Given the description of an element on the screen output the (x, y) to click on. 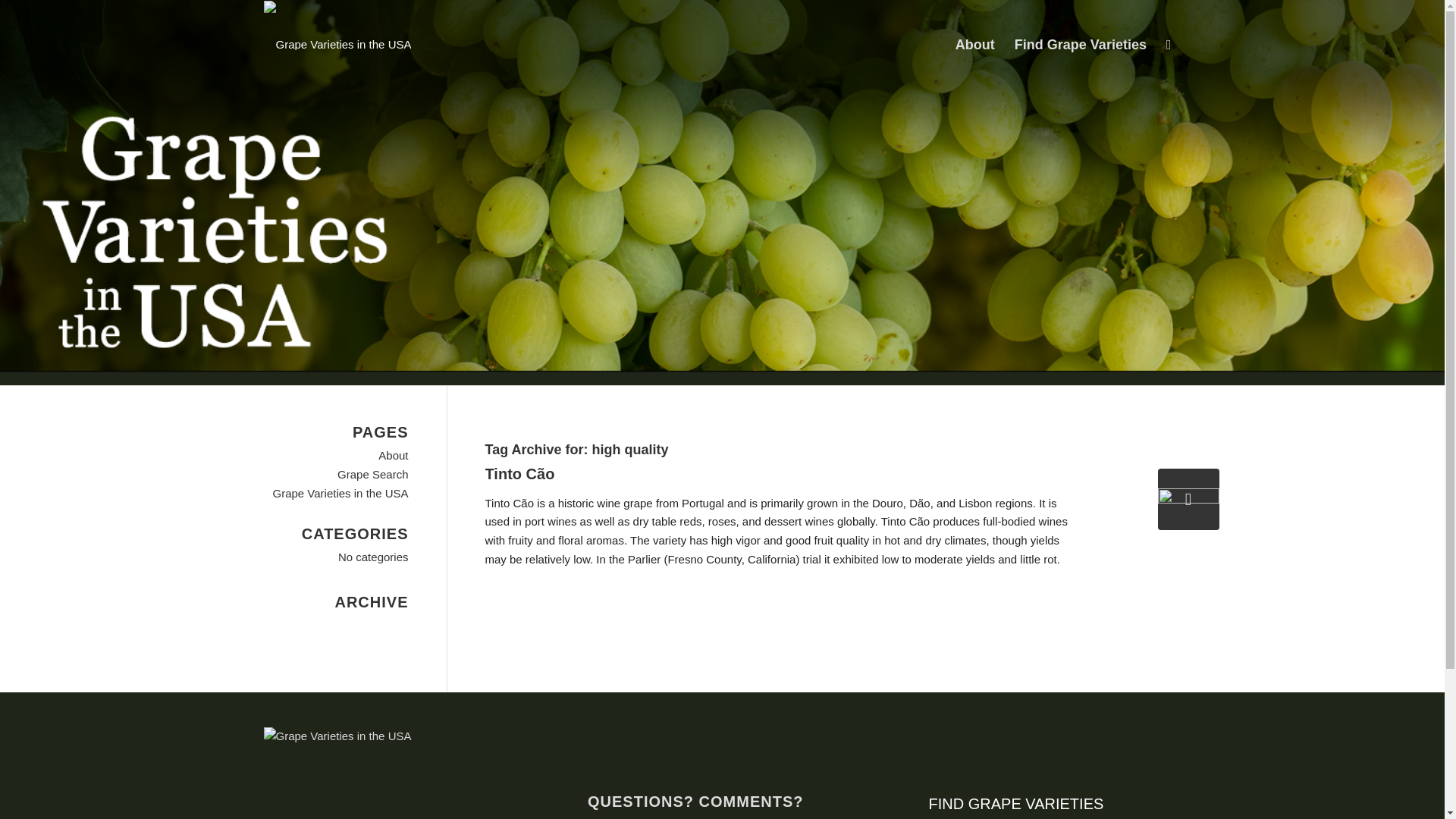
Grape Search (372, 473)
FIND GRAPE VARIETIES (1016, 803)
Grape Varieties in the USA (341, 492)
Find Grape Varieties (1080, 44)
About (392, 454)
